Given the description of an element on the screen output the (x, y) to click on. 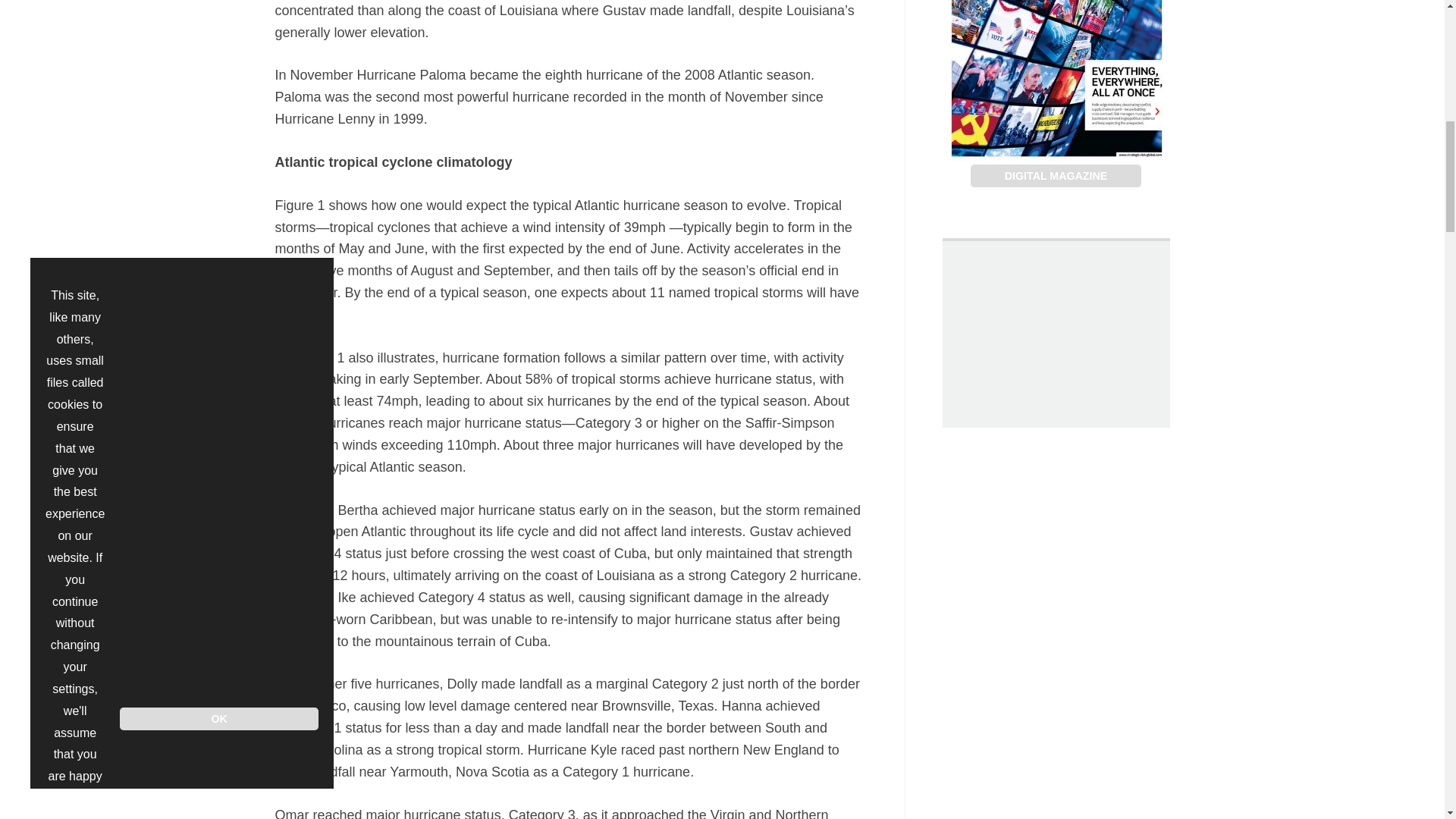
Cookie Policy (75, 77)
